Given the description of an element on the screen output the (x, y) to click on. 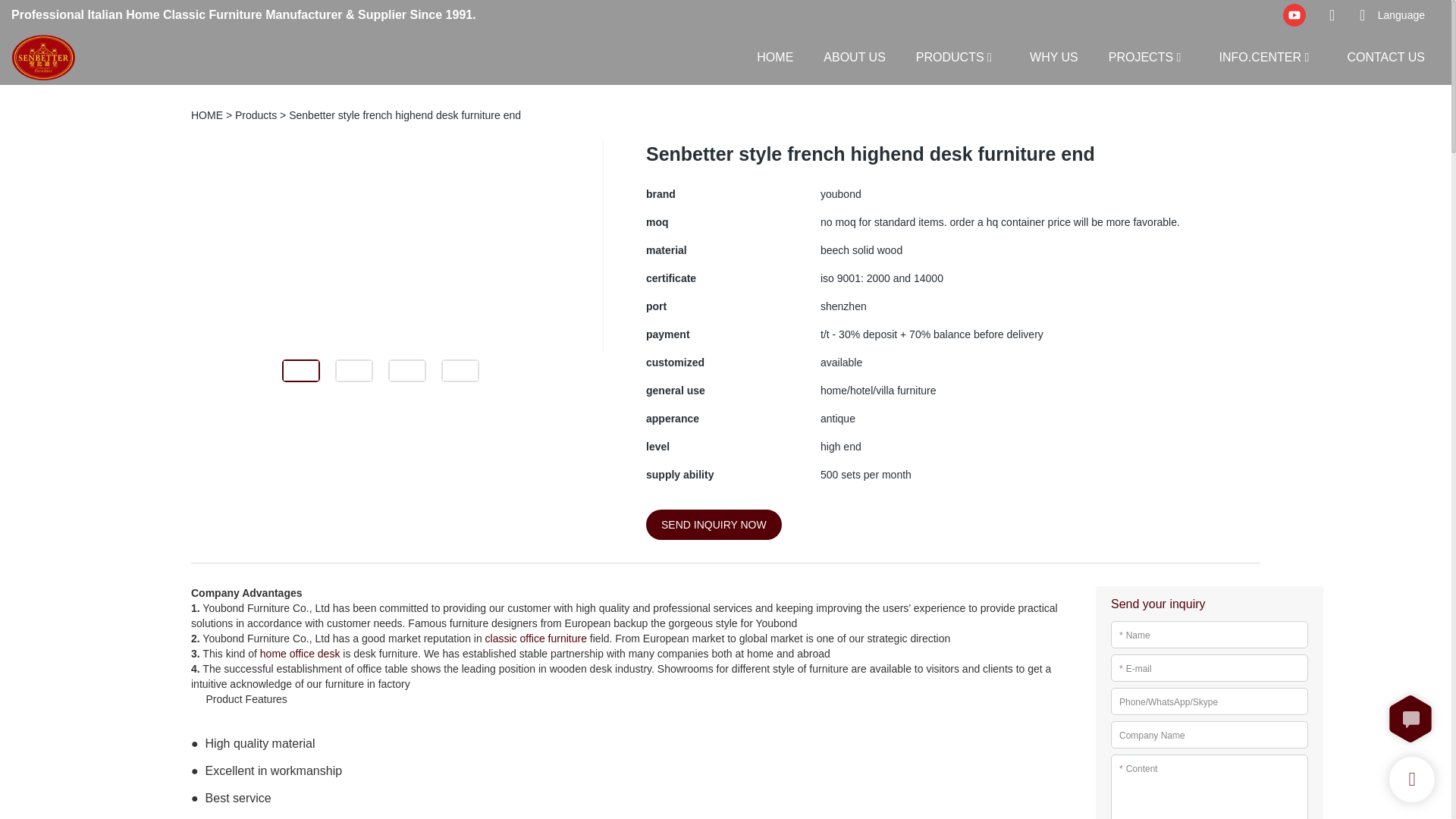
INFO.CENTER (1260, 56)
classic office furniture (535, 638)
Senbetter style french highend desk furniture end (404, 114)
home office desk (300, 653)
youtube (1293, 15)
classic office furniture (535, 638)
PROJECTS (1140, 56)
SEND INQUIRY NOW (713, 524)
home office desk (300, 653)
WHY US (1053, 56)
HOME (206, 114)
HOME (775, 56)
CONTACT US (1385, 56)
ABOUT US (854, 56)
PRODUCTS (949, 56)
